Given the description of an element on the screen output the (x, y) to click on. 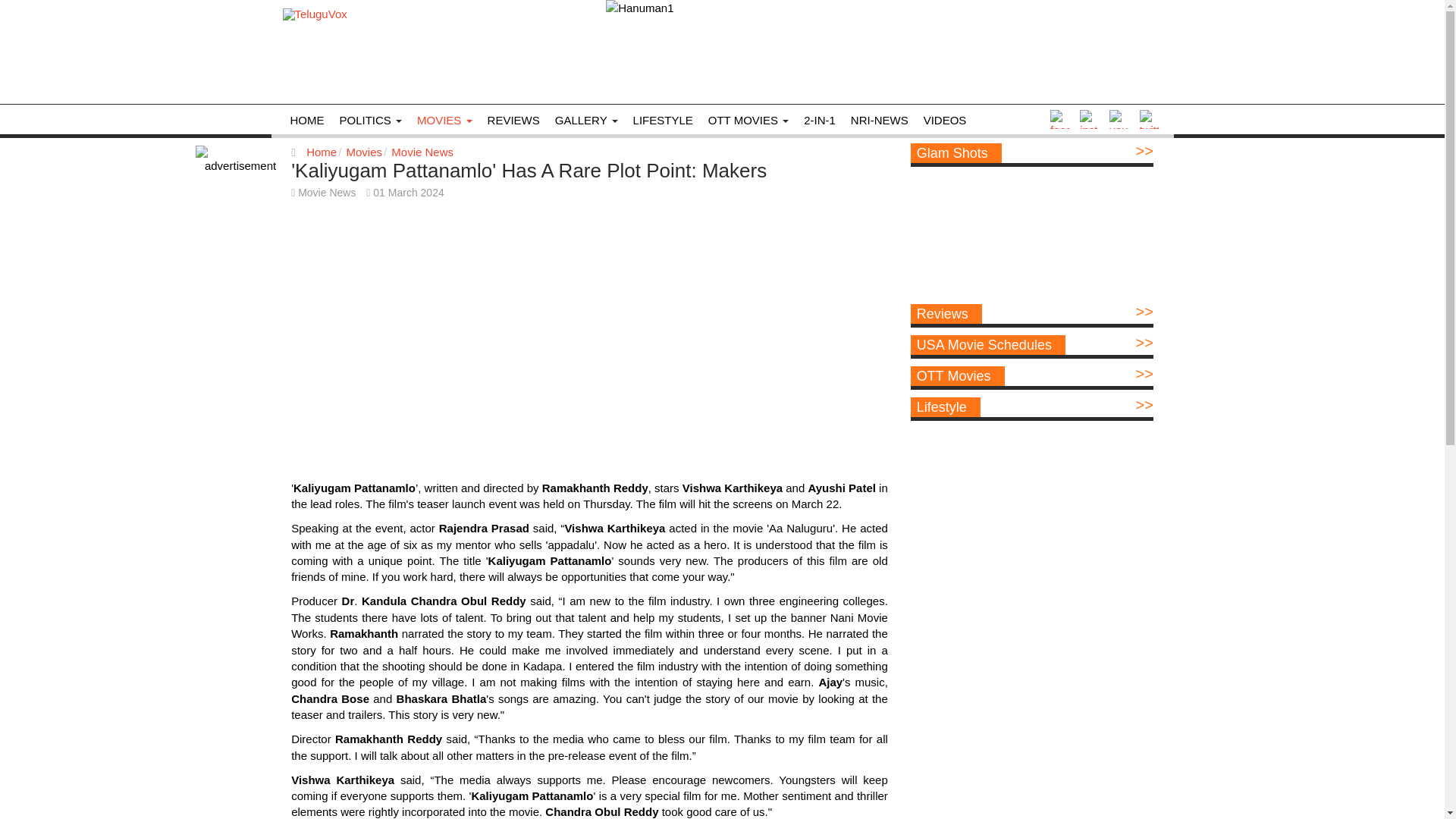
'Kaliyugam Pattanamlo' has a rare plot point: Makers (529, 169)
Home (320, 151)
'Kaliyugam Pattanamlo' Has A Rare Plot Point: Makers (529, 169)
VIDEOS (944, 119)
MOVIES (444, 119)
NRI-NEWS (879, 119)
OTT MOVIES (748, 119)
Category:  (323, 192)
GALLERY (586, 119)
Movie News (421, 151)
